Given the description of an element on the screen output the (x, y) to click on. 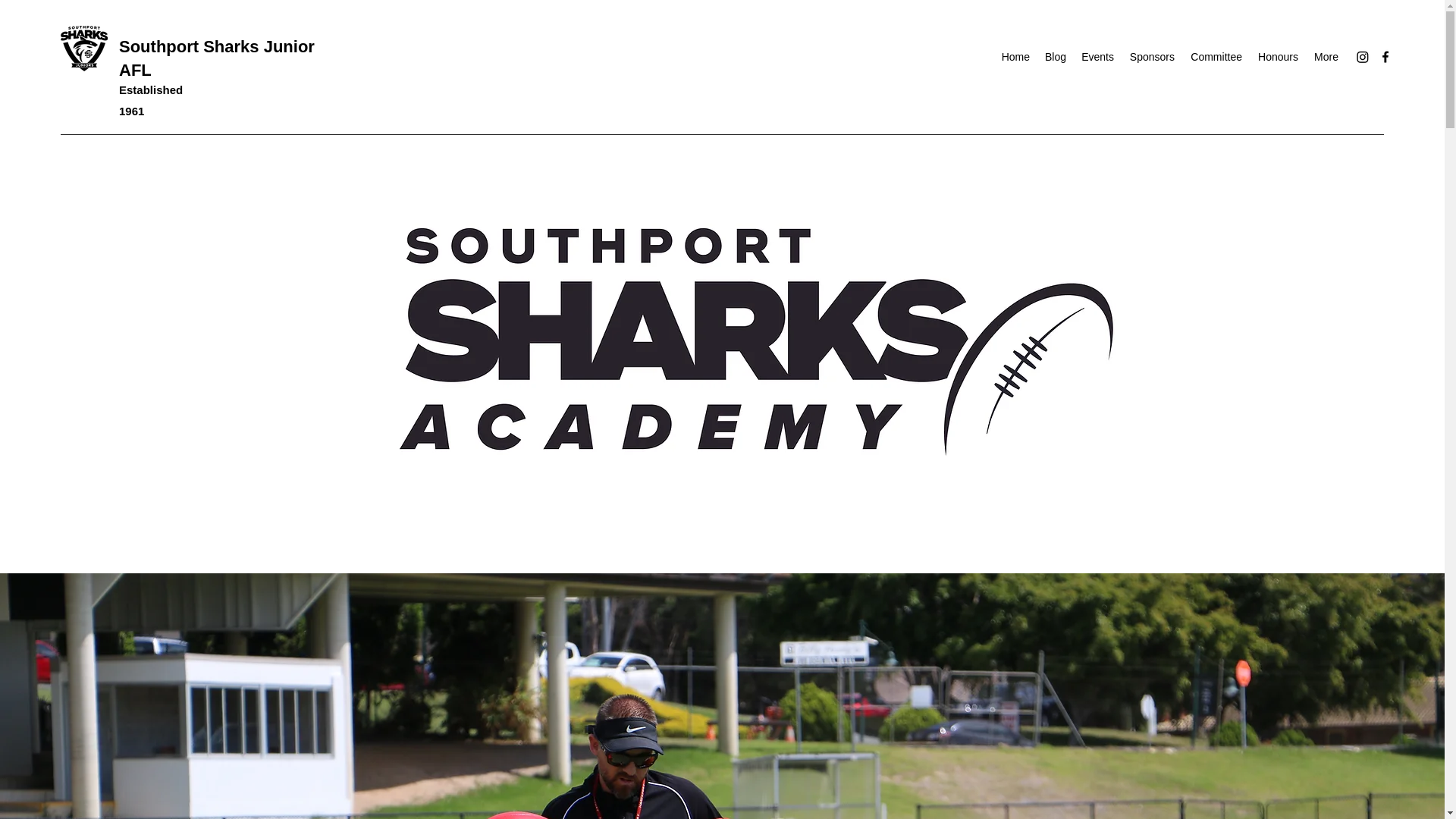
Blog (1055, 56)
Southport Sharks Junior AFL (216, 57)
Honours (1277, 56)
Committee (1215, 56)
Home (1014, 56)
Events (1097, 56)
Sponsors (1151, 56)
